Given the description of an element on the screen output the (x, y) to click on. 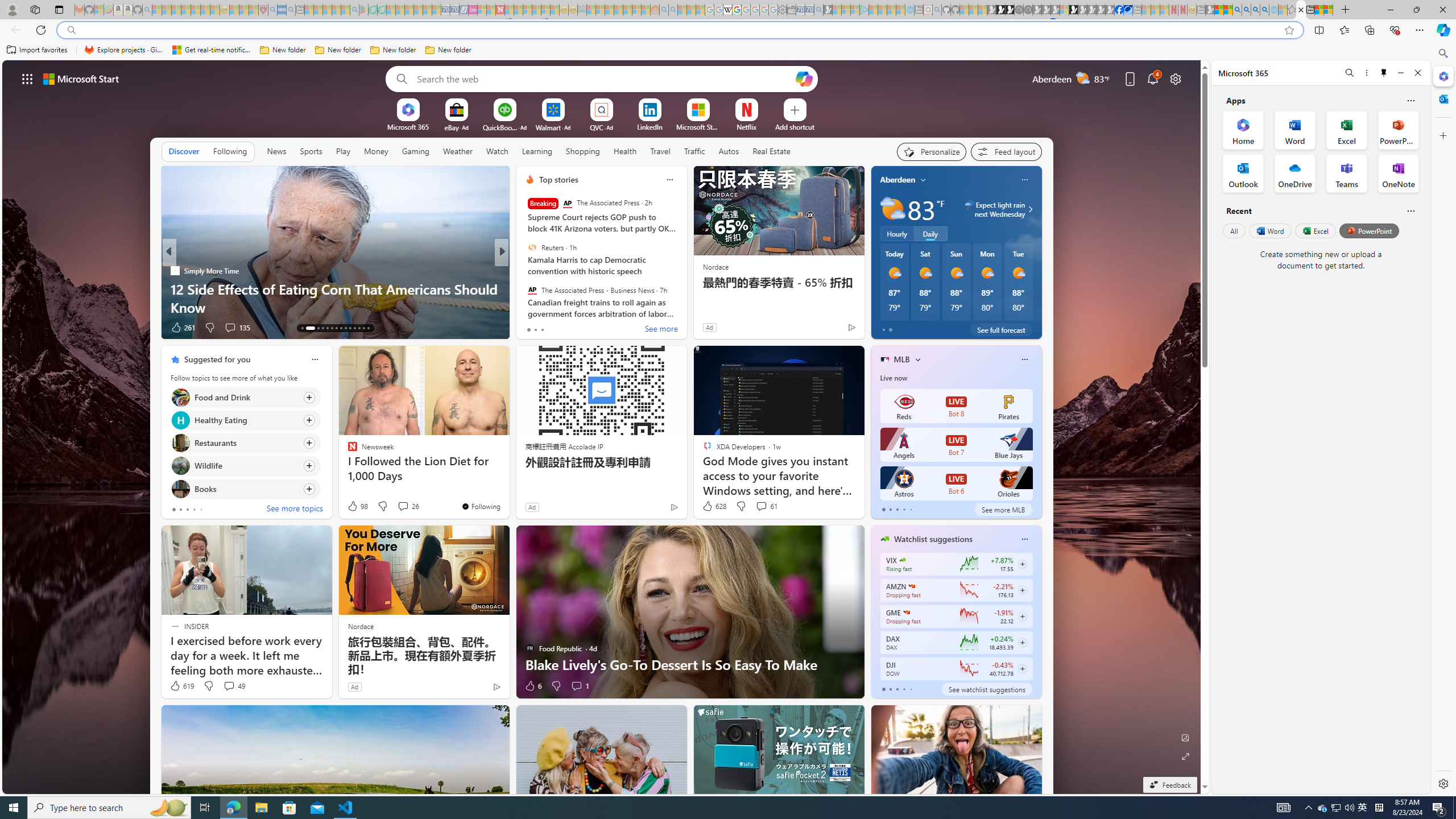
AutomationID: tab-22 (349, 328)
Bing AI - Search (1236, 9)
See more topics (294, 509)
View comments 13 Comment (585, 327)
View comments 6 Comment (580, 327)
Autos (728, 151)
Expand background (1185, 756)
